Given the description of an element on the screen output the (x, y) to click on. 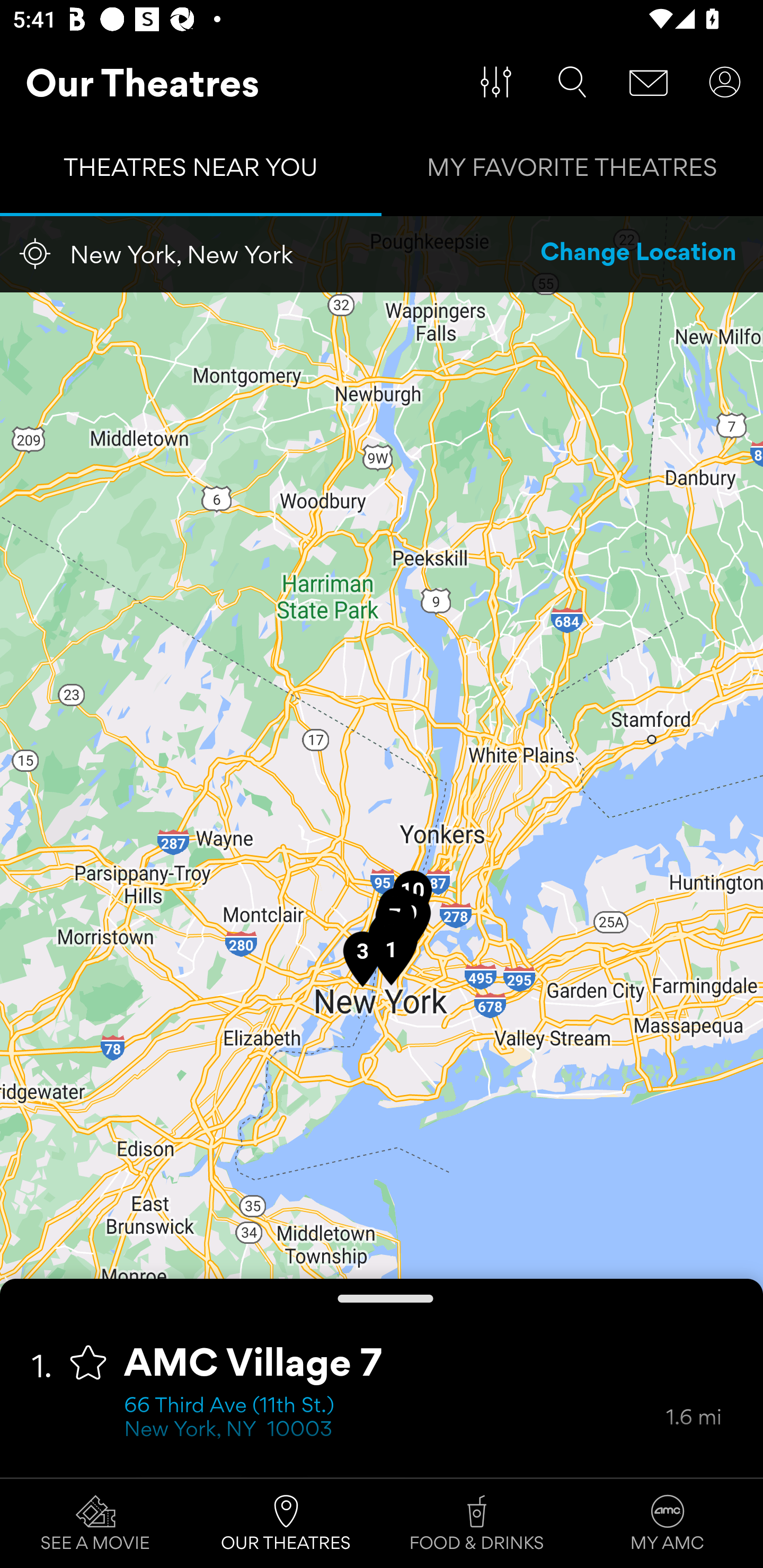
Filter Theatres (495, 82)
Search (572, 82)
Message Center (648, 82)
User Account (724, 82)
THEATRES NEAR YOU
Tab 1 of 2 (190, 171)
MY FAVORITE THEATRES
Tab 2 of 2 (572, 171)
Change Location (639, 253)
66 Third Ave (11th St.)  
New York, NY  10003 (394, 1418)
SEE A MOVIE
Tab 1 of 4 (95, 1523)
OUR THEATRES
Tab 2 of 4 (285, 1523)
FOOD & DRINKS
Tab 3 of 4 (476, 1523)
MY AMC
Tab 4 of 4 (667, 1523)
